Given the description of an element on the screen output the (x, y) to click on. 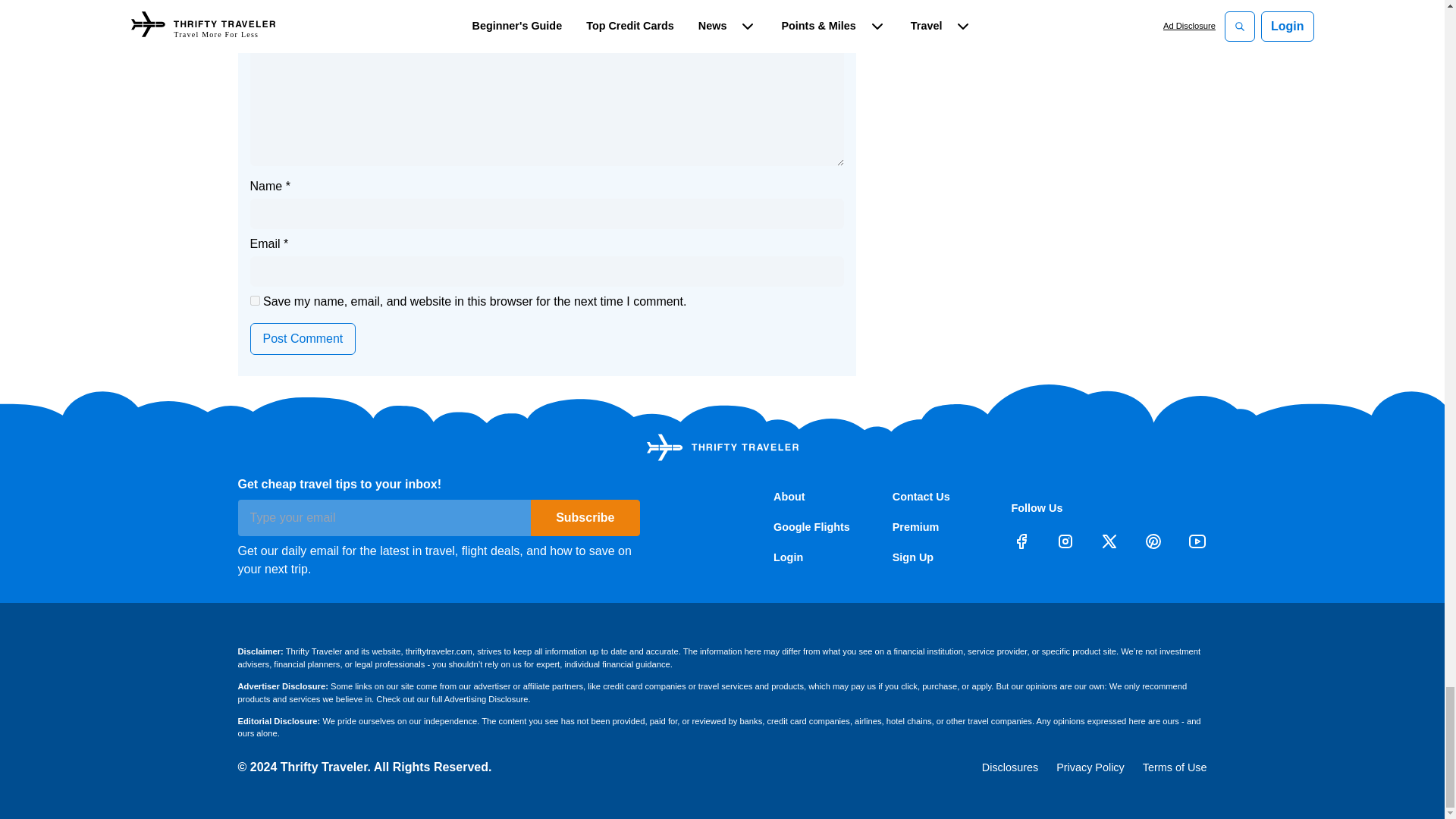
Post Comment (303, 338)
yes (255, 300)
